Given the description of an element on the screen output the (x, y) to click on. 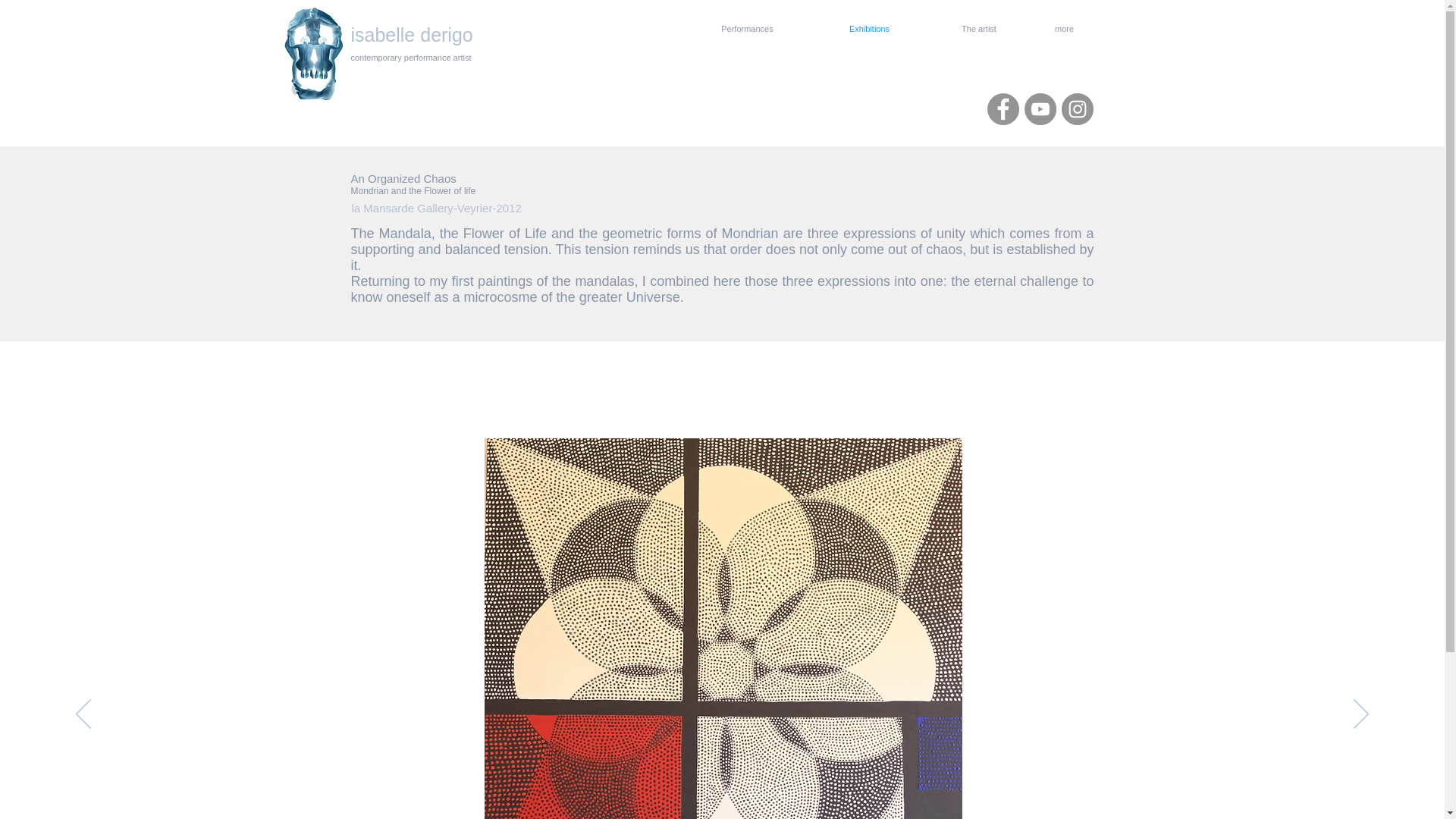
Performances (746, 28)
Exhibitions (868, 28)
isabelle derigo (410, 34)
The artist (978, 28)
